Given the description of an element on the screen output the (x, y) to click on. 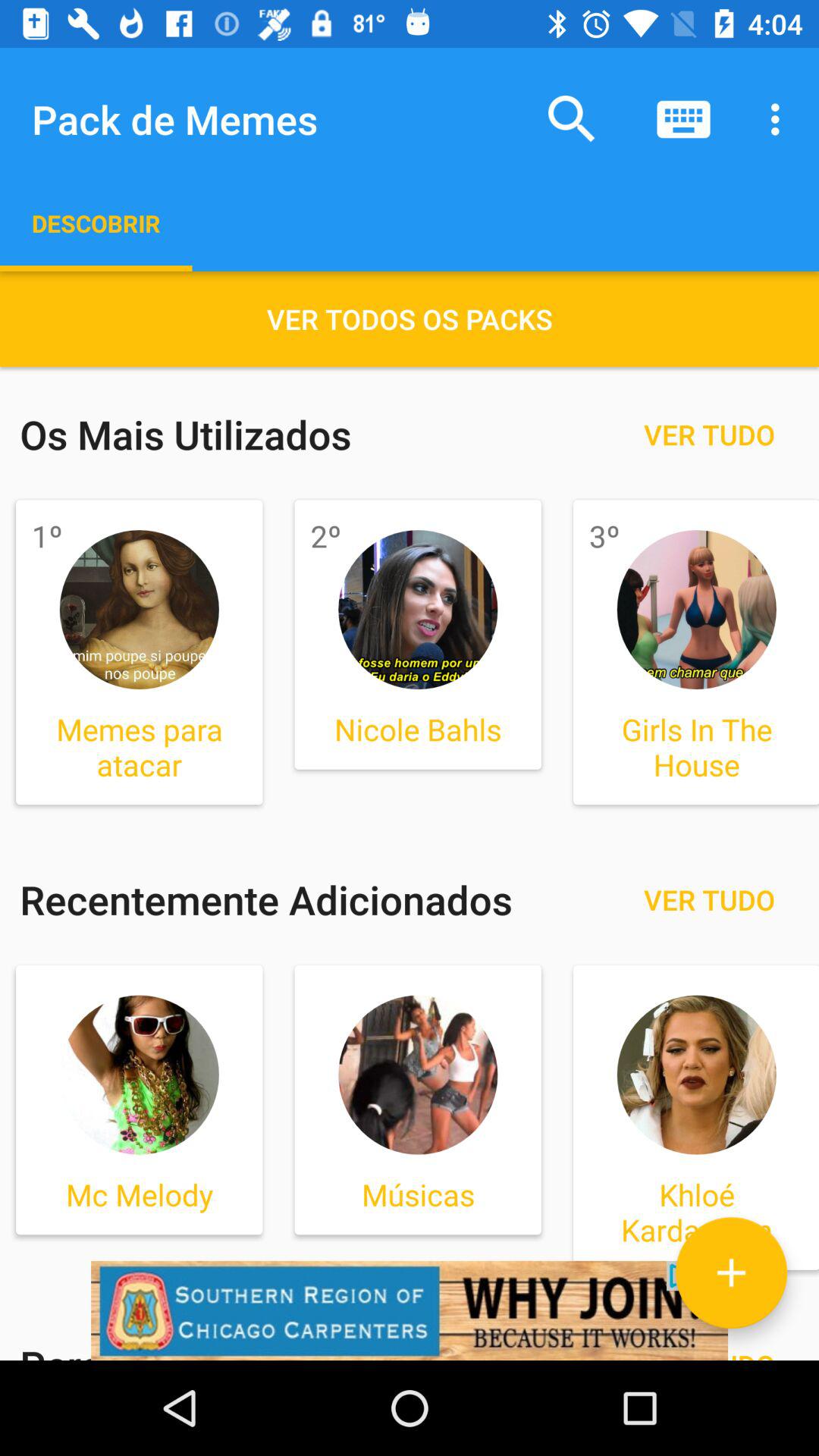
advertisement to join chicago carpenters (409, 1310)
